Given the description of an element on the screen output the (x, y) to click on. 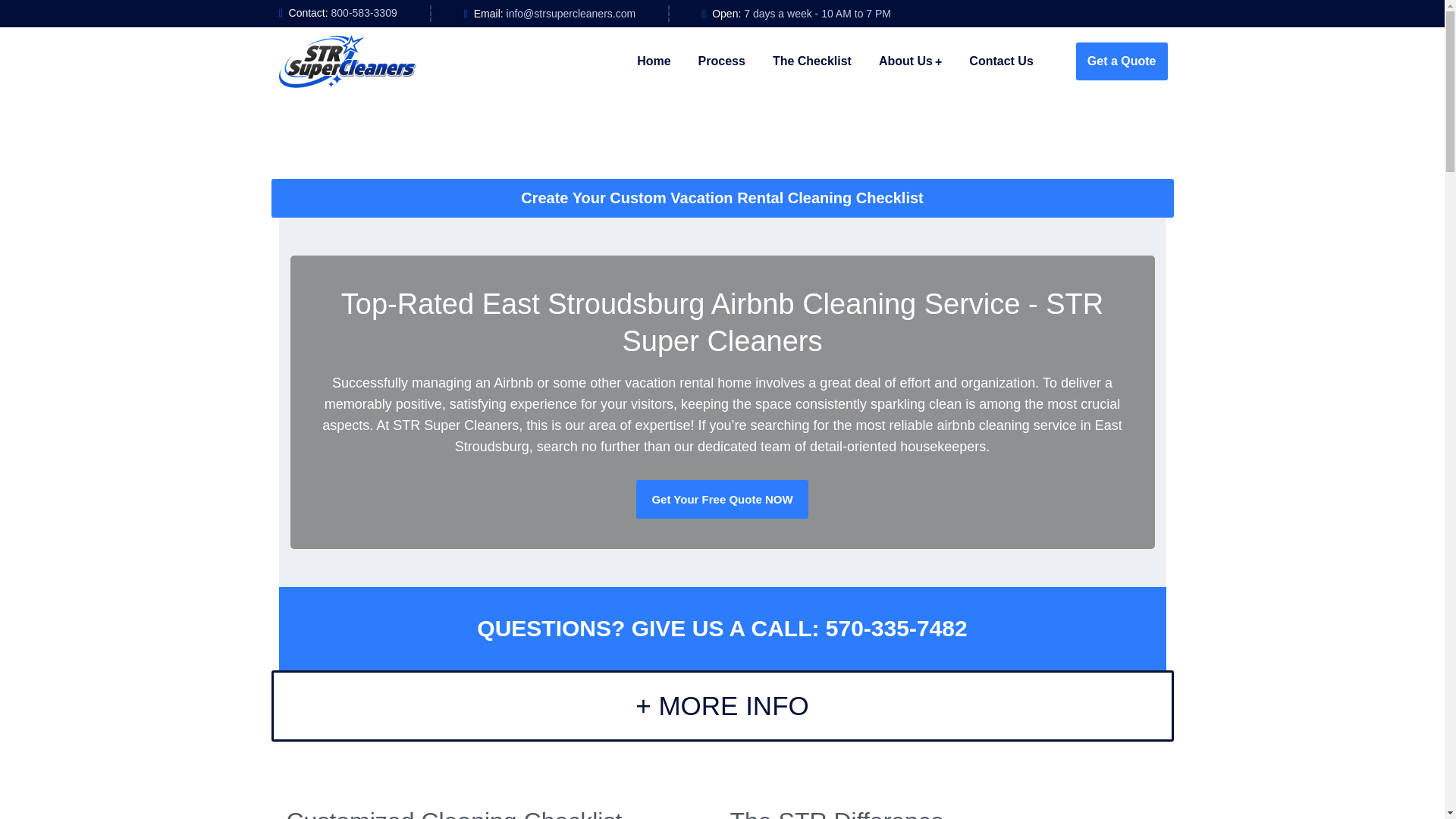
Get a Quote (1121, 61)
Contact Us (1000, 61)
The Checklist (812, 61)
STR Super Cleaners (347, 61)
Create Your Custom Vacation Rental Cleaning Checklist (721, 198)
About Us (910, 61)
Get Your Free Quote NOW (722, 498)
800-583-3309 (364, 12)
